Given the description of an element on the screen output the (x, y) to click on. 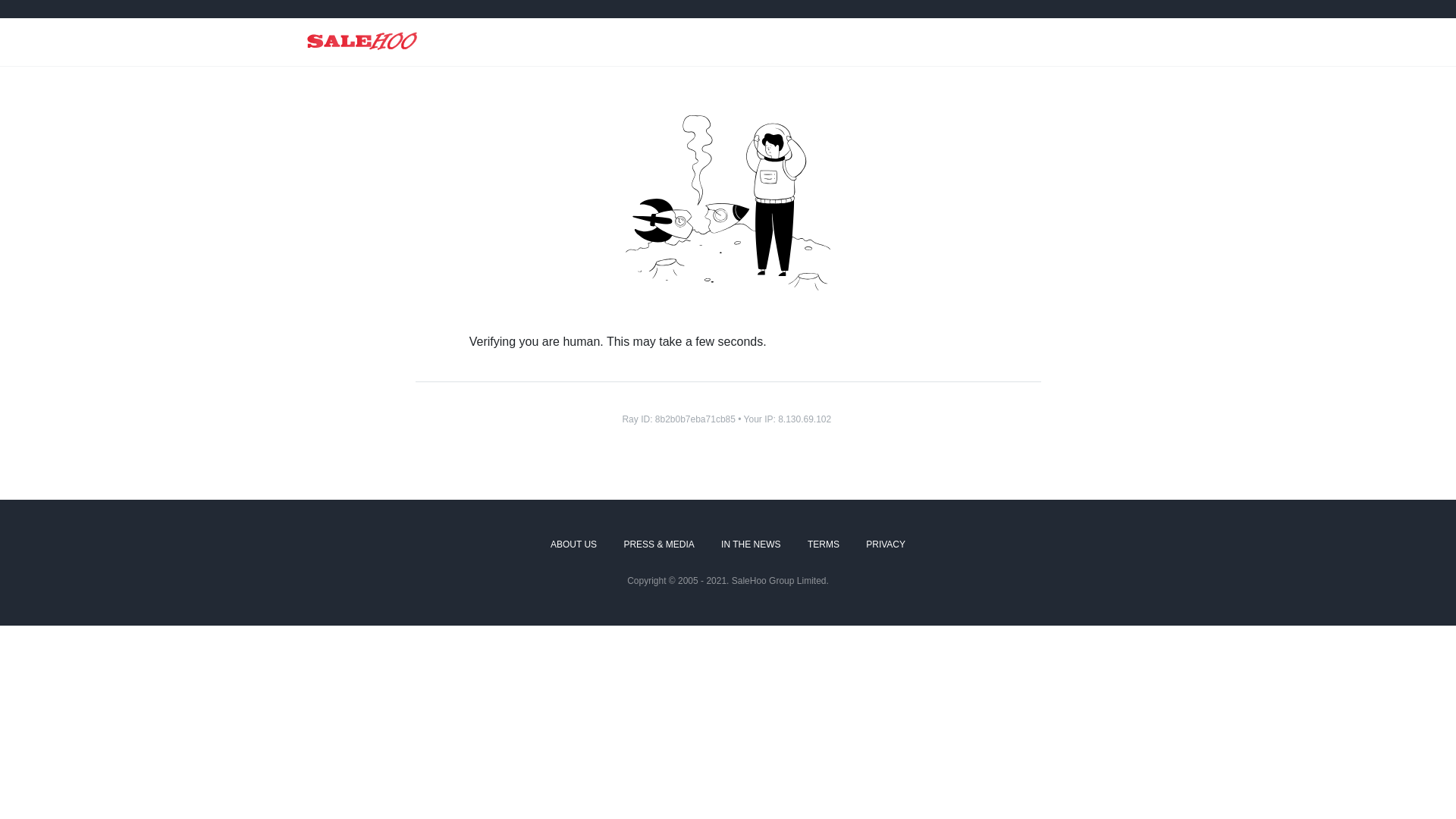
PRIVACY (885, 545)
TERMS (824, 545)
ABOUT US (573, 545)
IN THE NEWS (750, 545)
